Given the description of an element on the screen output the (x, y) to click on. 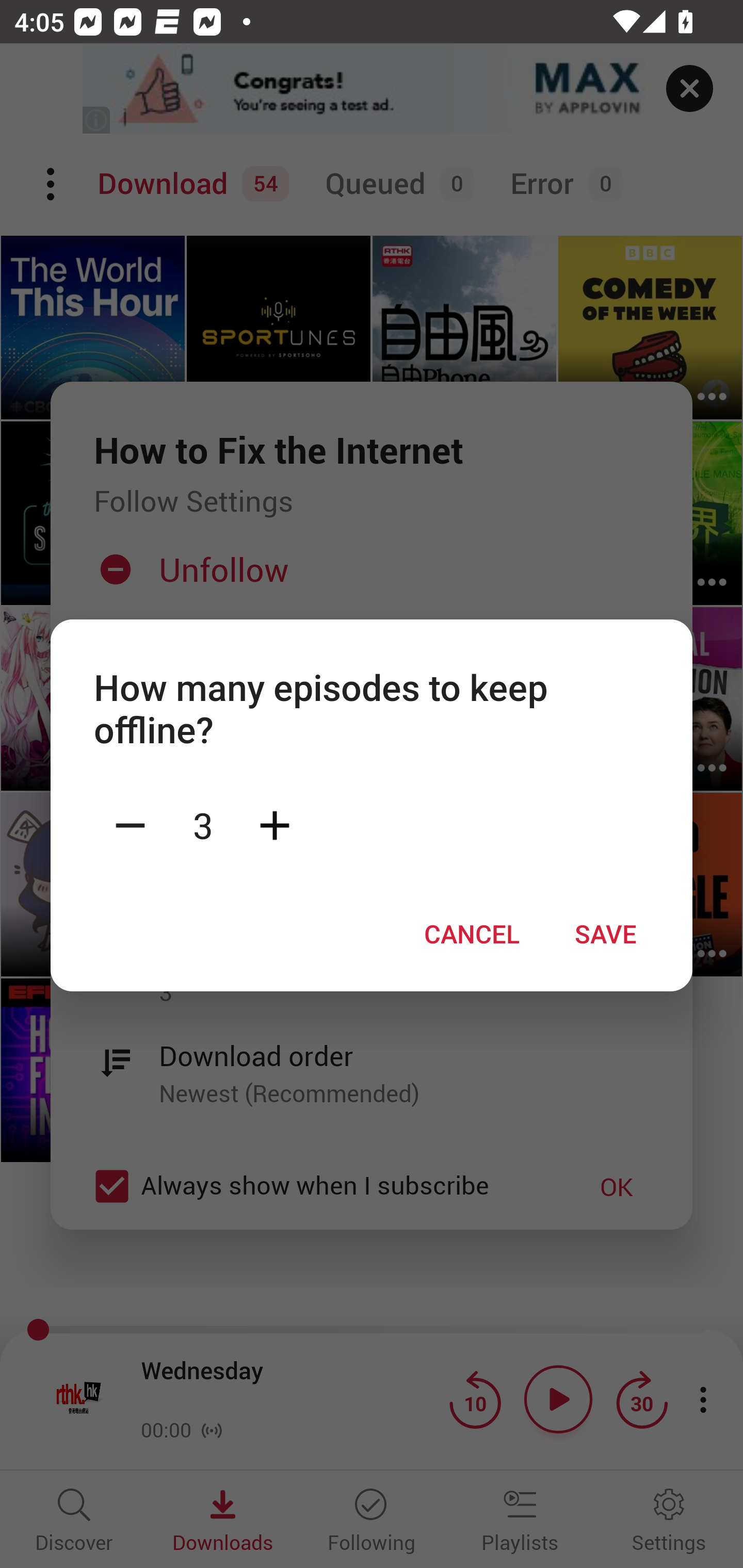
Minus (129, 824)
Plus (274, 824)
CANCEL (470, 933)
SAVE (605, 933)
